Given the description of an element on the screen output the (x, y) to click on. 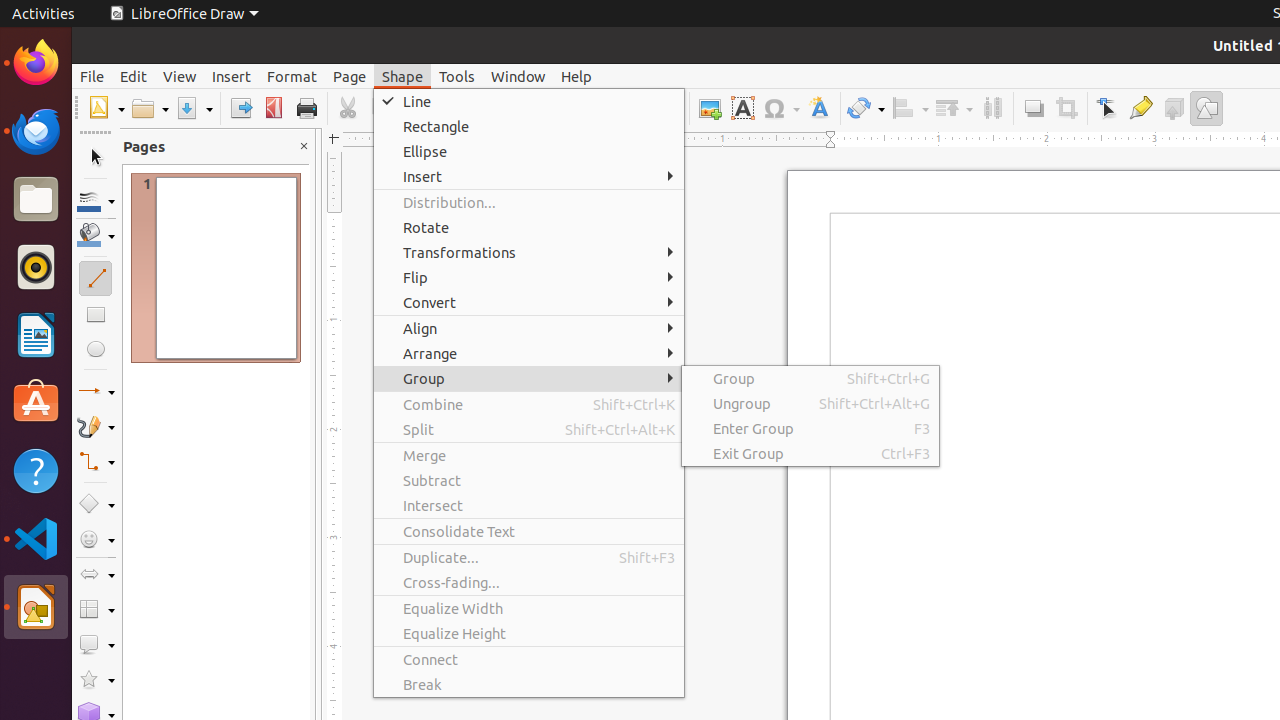
Insert Element type: menu (529, 176)
Copy Element type: push-button (380, 108)
Intersect Element type: menu-item (529, 505)
Align Element type: push-button (910, 108)
